Given the description of an element on the screen output the (x, y) to click on. 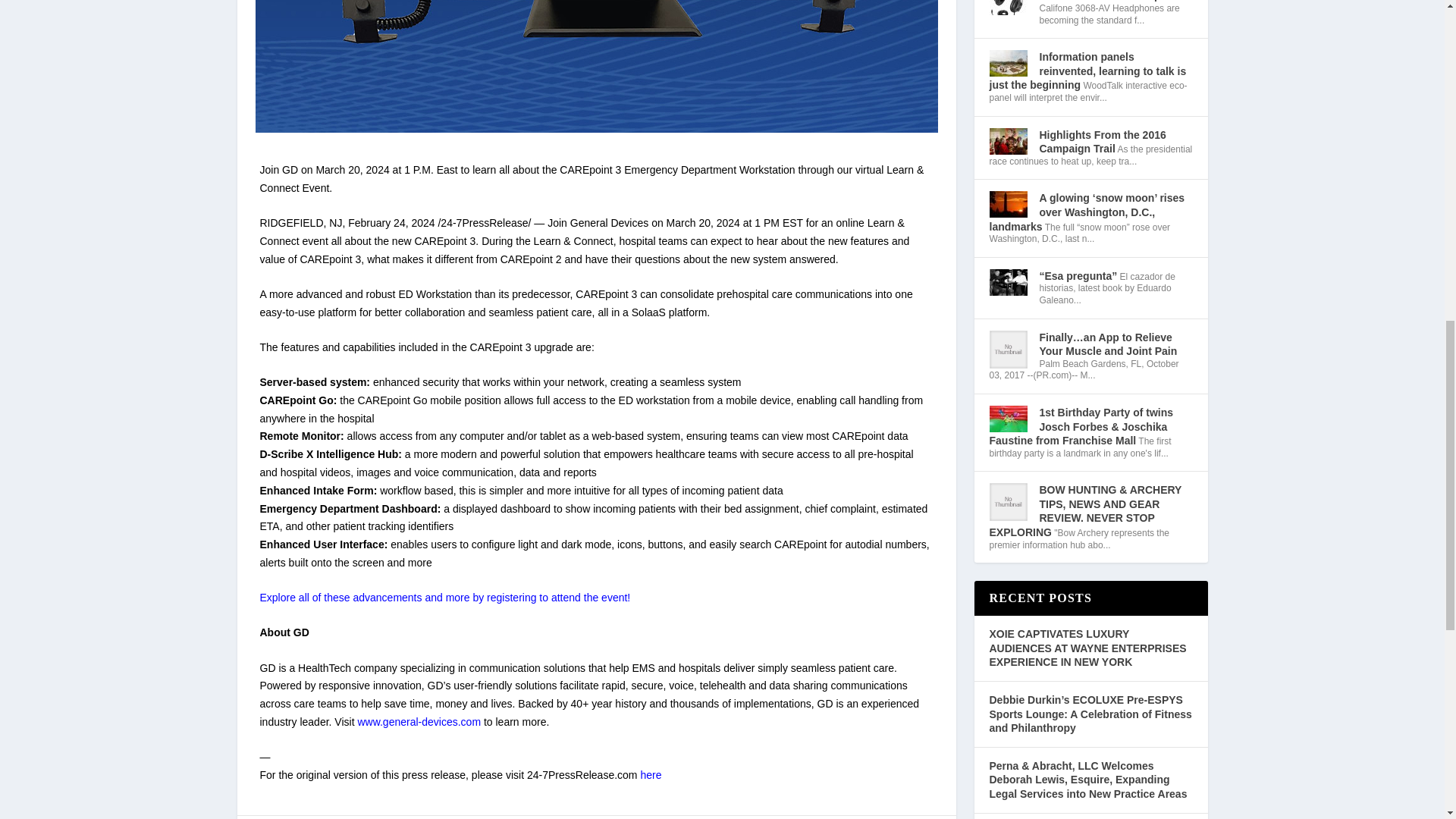
www.general-devices.com (418, 721)
here (650, 775)
